Given the description of an element on the screen output the (x, y) to click on. 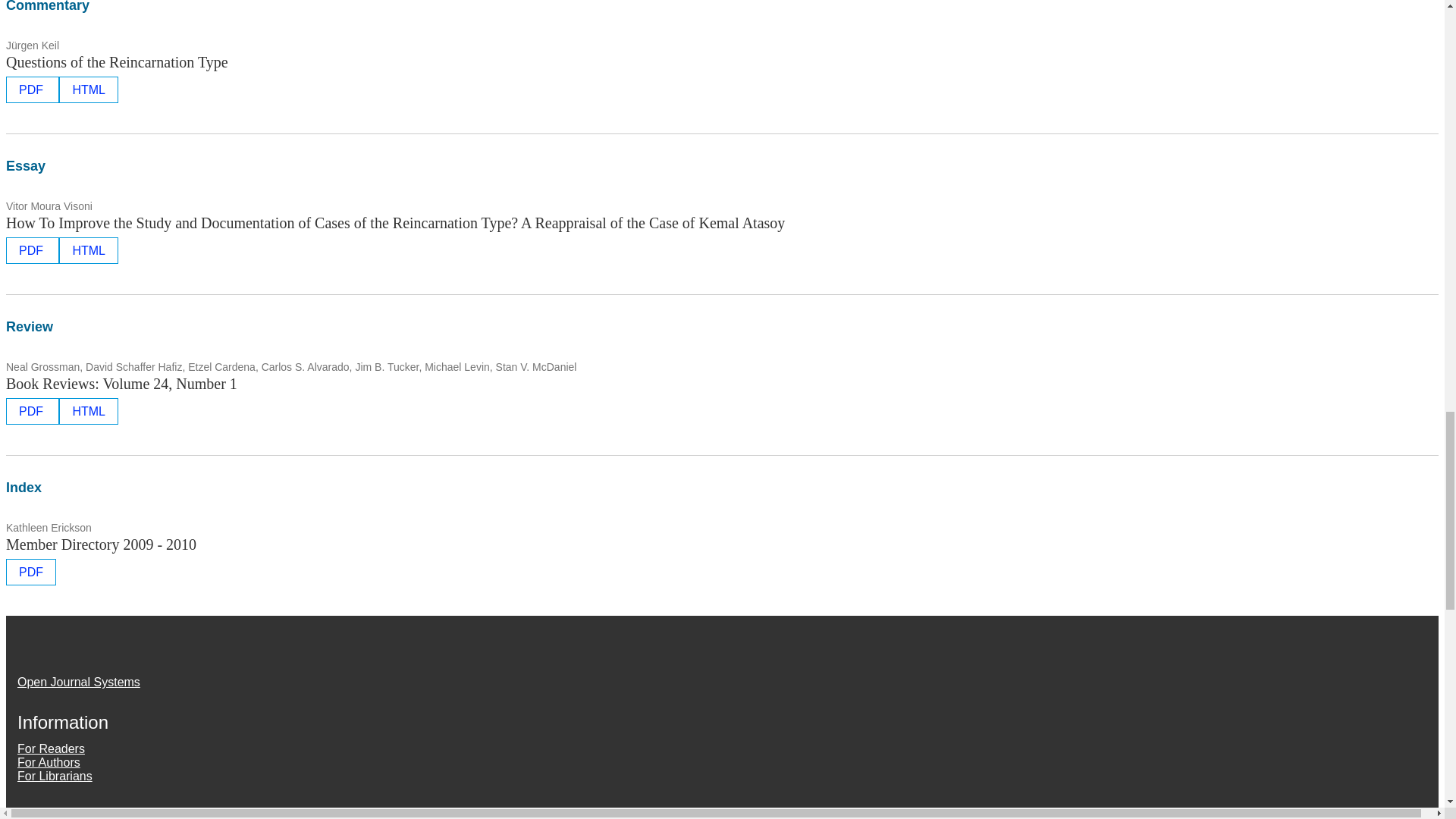
PDF (32, 250)
PDF (32, 89)
Book Reviews: Volume 24, Number 1 (121, 383)
Questions of the Reincarnation Type (116, 62)
HTML (88, 250)
HTML (88, 89)
